Given the description of an element on the screen output the (x, y) to click on. 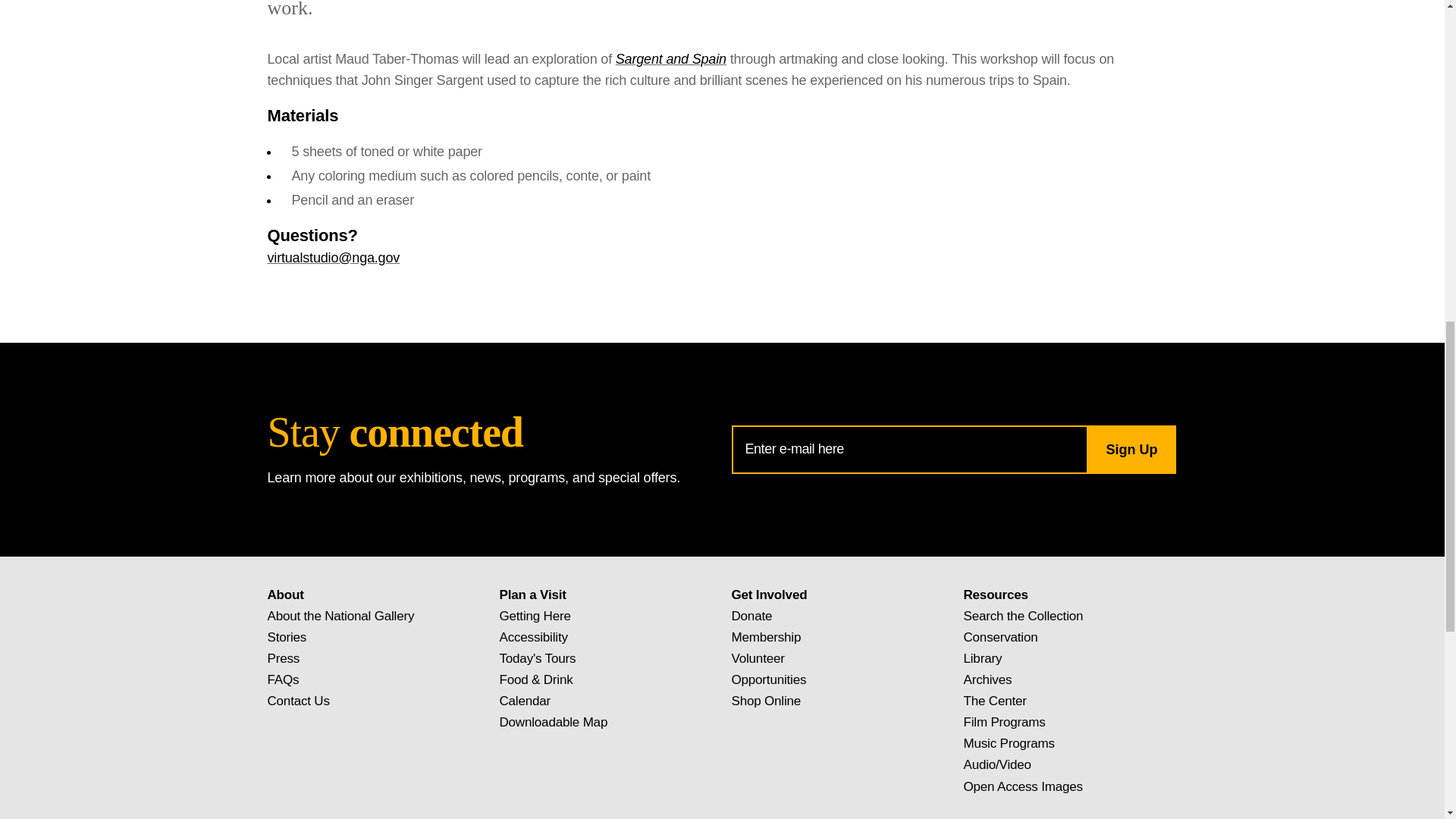
Sign Up (1130, 449)
